Given the description of an element on the screen output the (x, y) to click on. 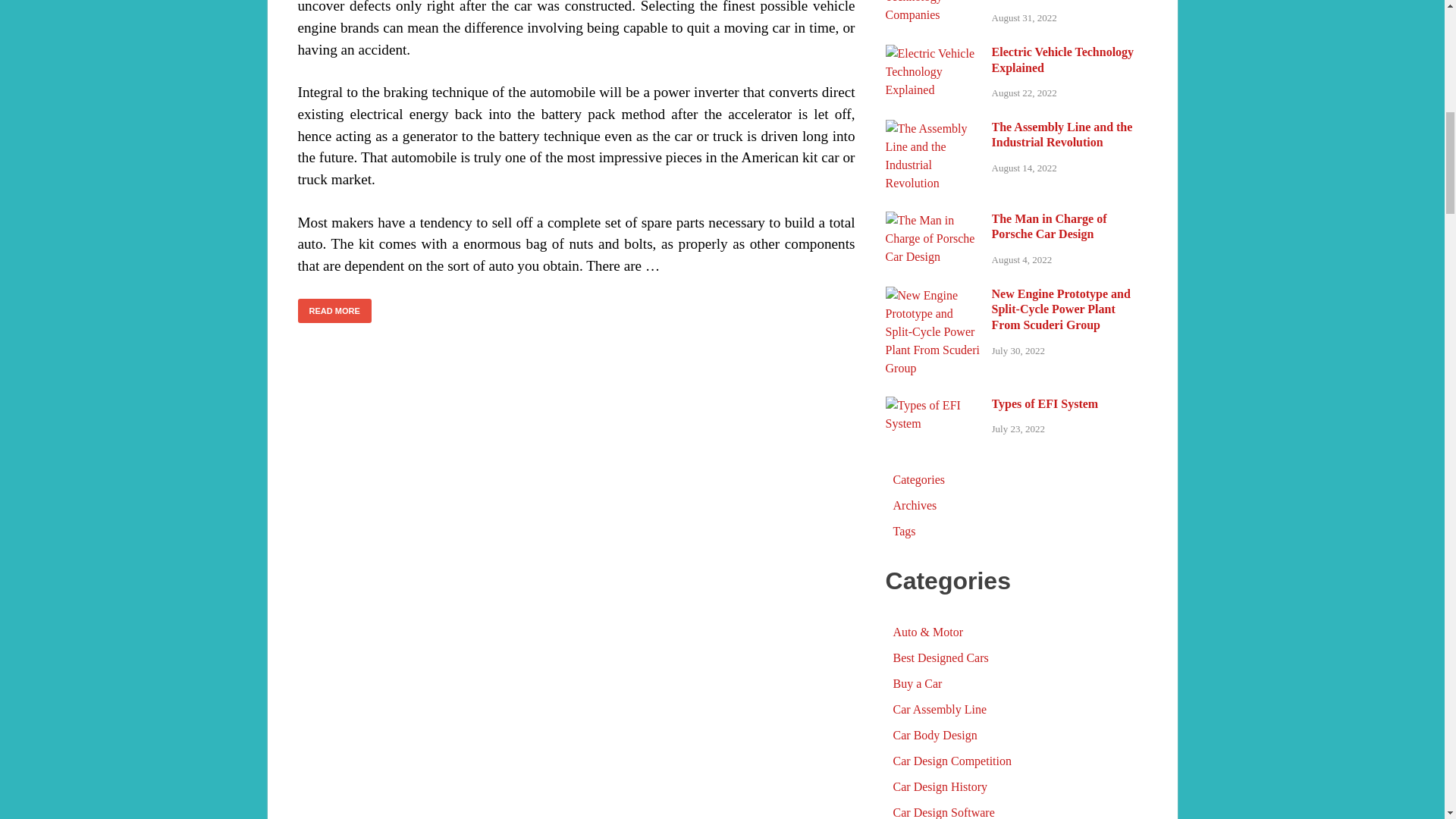
The Assembly Line and the Industrial Revolution (932, 128)
Types of EFI System (932, 404)
Electric Vehicle Technology Explained (932, 52)
The Man in Charge of Porsche Car Design (932, 219)
